Given the description of an element on the screen output the (x, y) to click on. 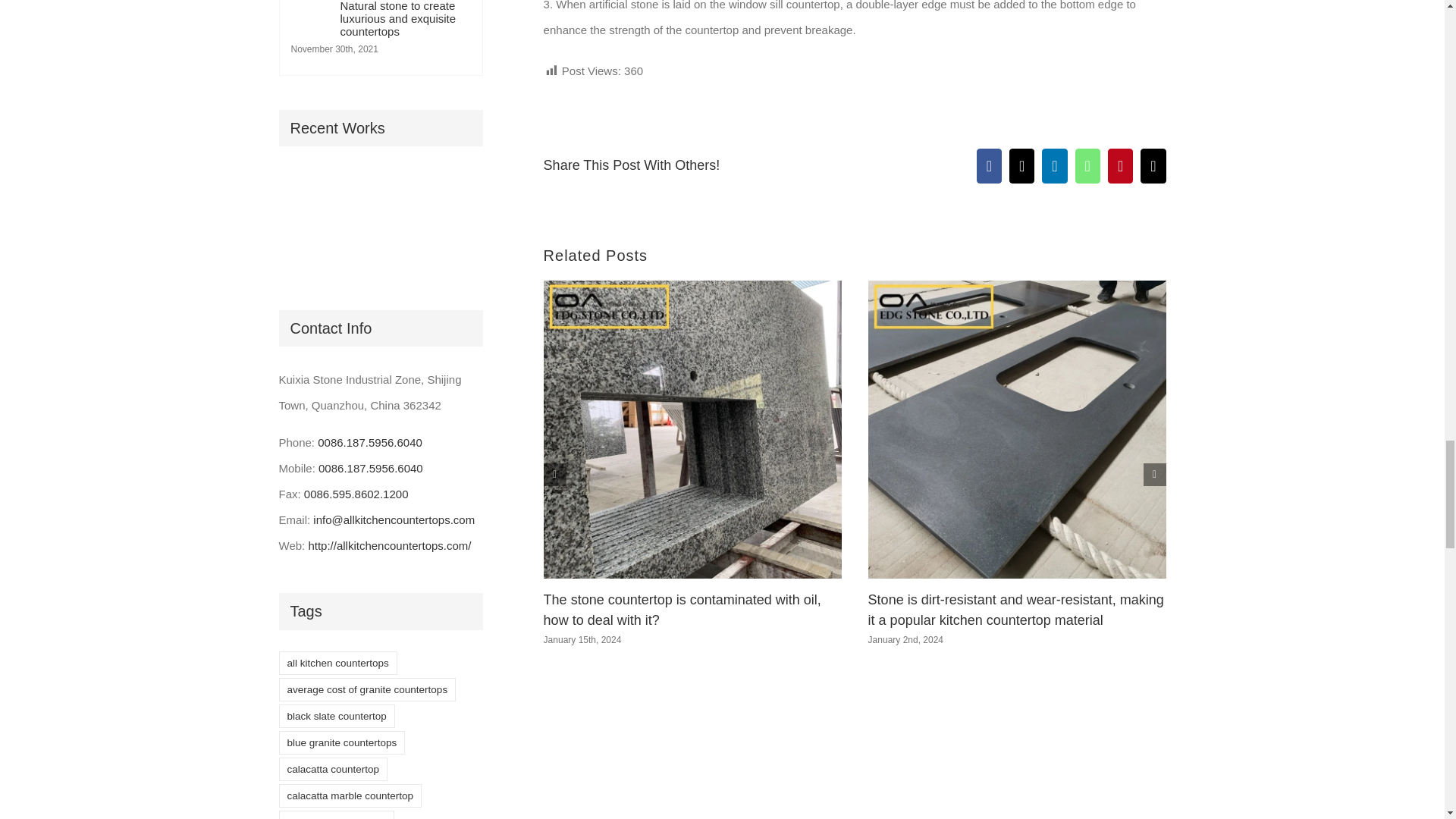
Blue Concrete House (305, 248)
Maine Modernity (360, 194)
The NoMad Hotel LA (305, 194)
Exclusive Urban Living (416, 194)
